Given the description of an element on the screen output the (x, y) to click on. 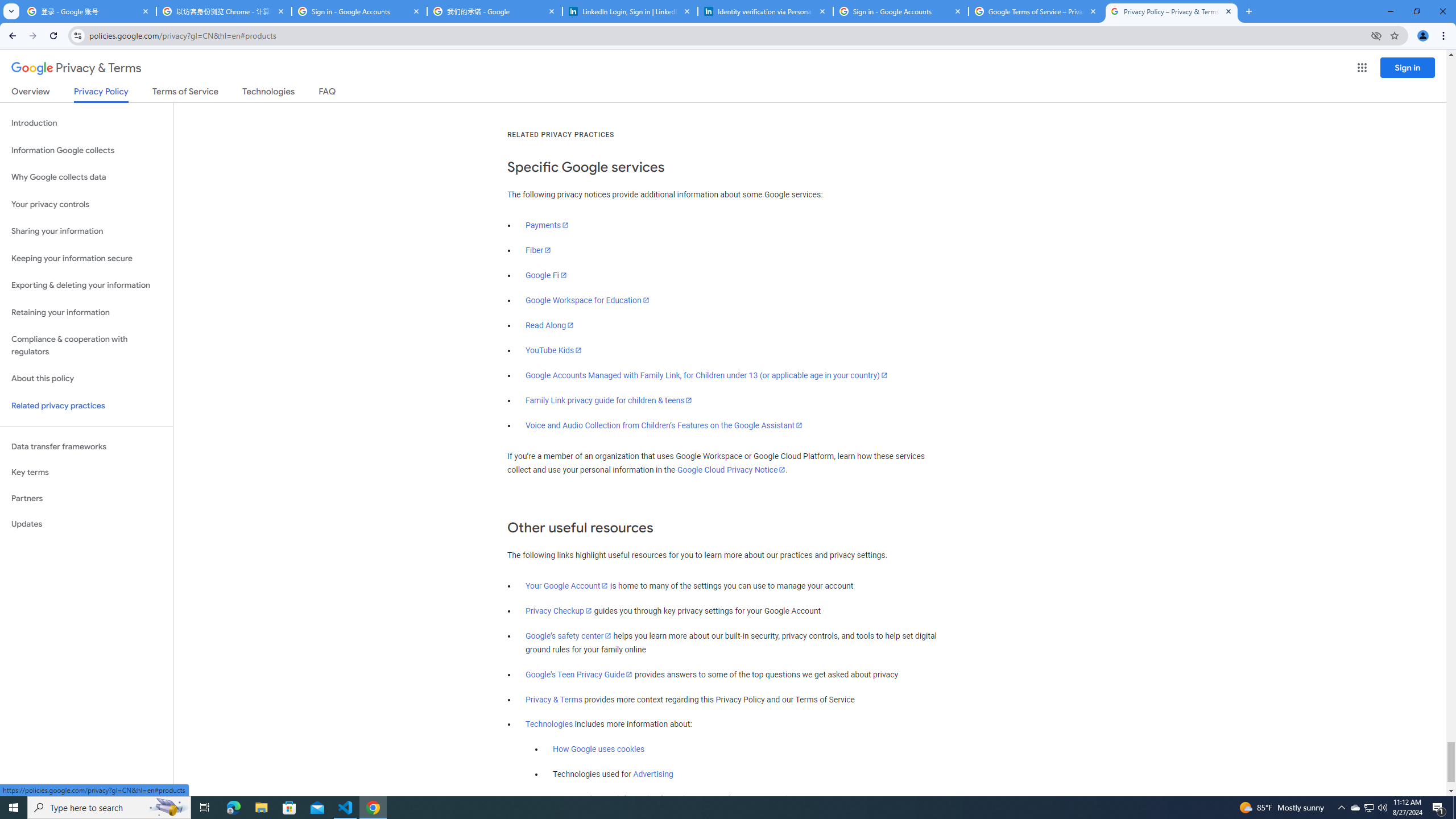
Identity verification via Persona | LinkedIn Help (765, 11)
Google Workspace for Education (587, 299)
Sign in - Google Accounts (901, 11)
